Given the description of an element on the screen output the (x, y) to click on. 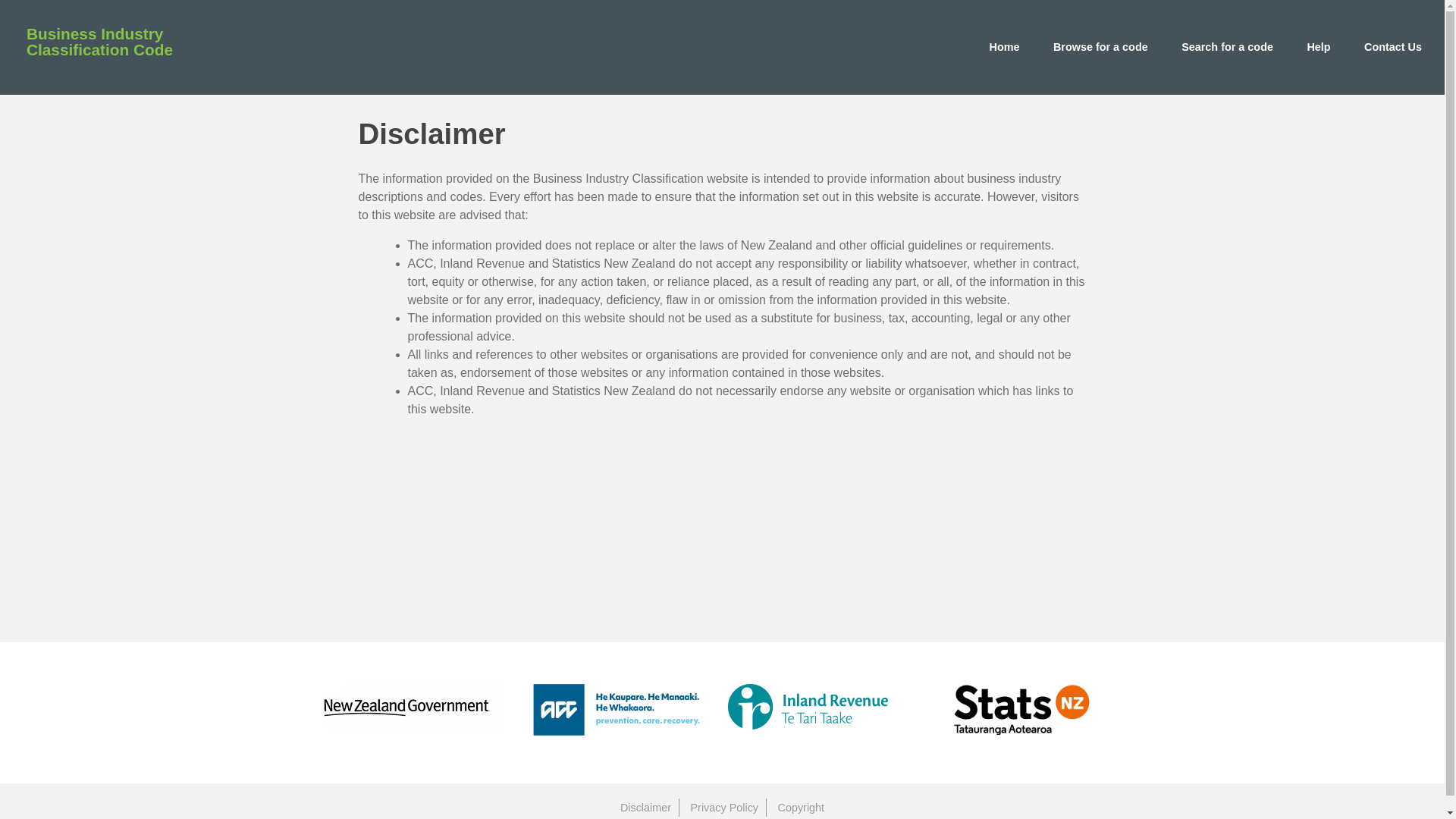
Help (1318, 46)
Disclaimer (645, 807)
Home (1003, 46)
Copyright (801, 807)
Browse for a code (1100, 46)
Search for a code (1226, 46)
Contact Us (1393, 46)
Copyright (801, 807)
Business Industry Classification Code (126, 51)
Privacy Policy (723, 807)
